Given the description of an element on the screen output the (x, y) to click on. 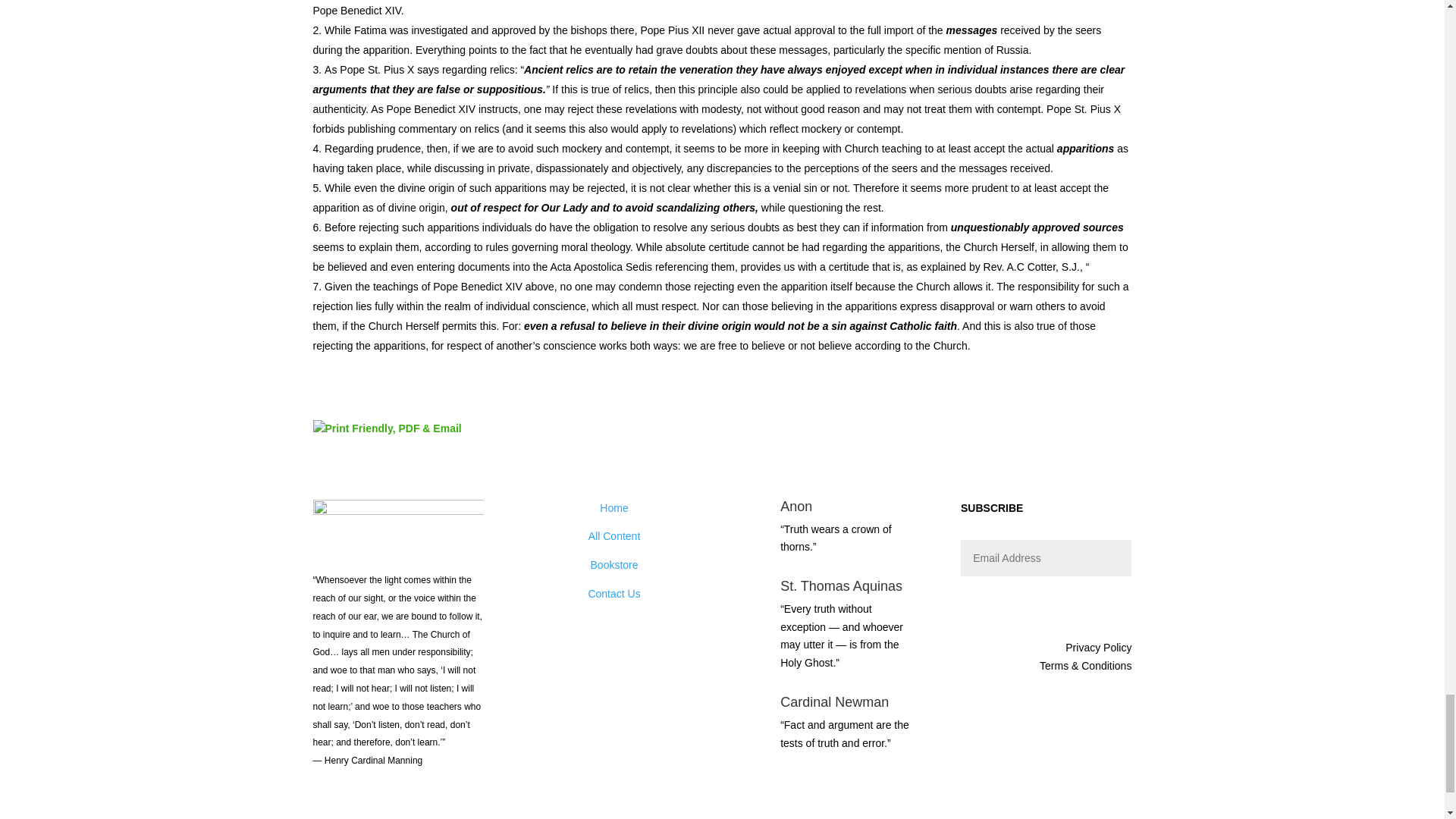
Follow on Youtube (445, 805)
Follow on LinkedIn (415, 805)
Follow on X (384, 805)
Follow on Instagram (354, 805)
Follow on Facebook (324, 805)
logo2 - white (398, 514)
